Given the description of an element on the screen output the (x, y) to click on. 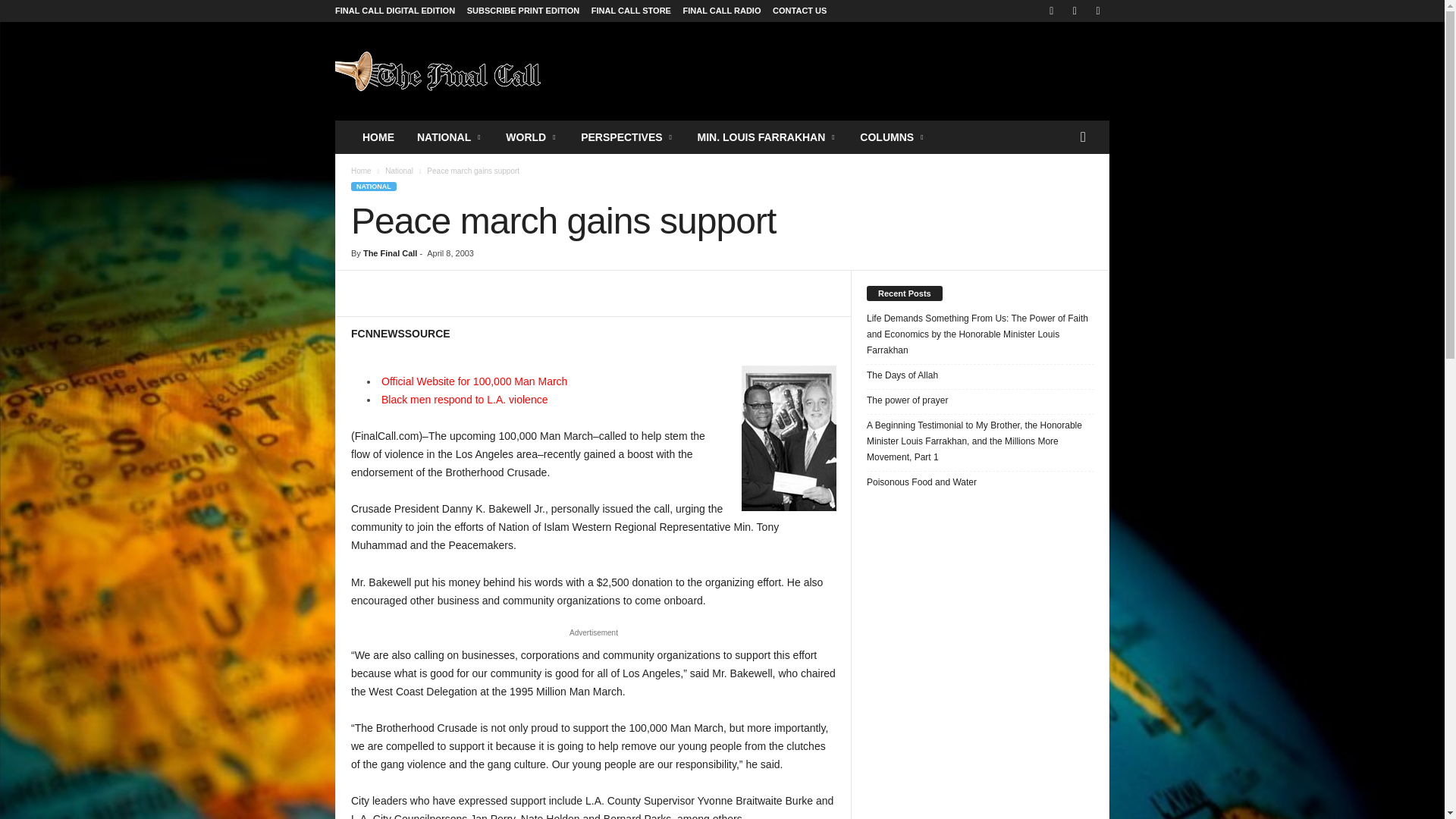
Final Call News (437, 70)
CONTACT US (800, 10)
HOME (378, 136)
FINAL CALL RADIO (721, 10)
NATIONAL (450, 136)
FINAL CALL STORE (631, 10)
FINAL CALL DIGITAL EDITION (394, 10)
SUBSCRIBE PRINT EDITION (523, 10)
